Given the description of an element on the screen output the (x, y) to click on. 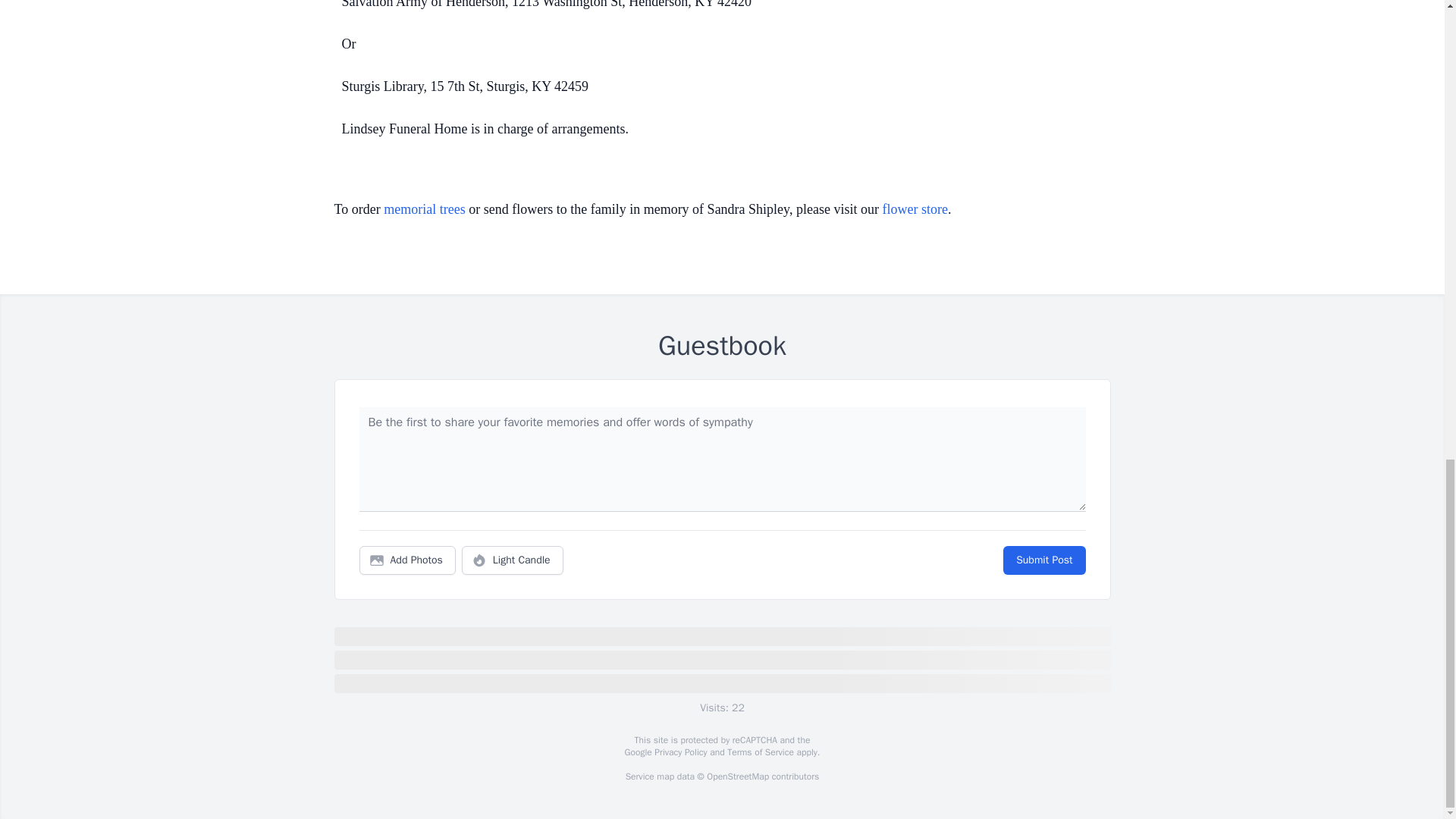
memorial trees (424, 209)
Add Photos (407, 560)
Submit Post (1043, 560)
OpenStreetMap (737, 776)
flower store (914, 209)
Privacy Policy (679, 752)
Terms of Service (759, 752)
Light Candle (512, 560)
